Given the description of an element on the screen output the (x, y) to click on. 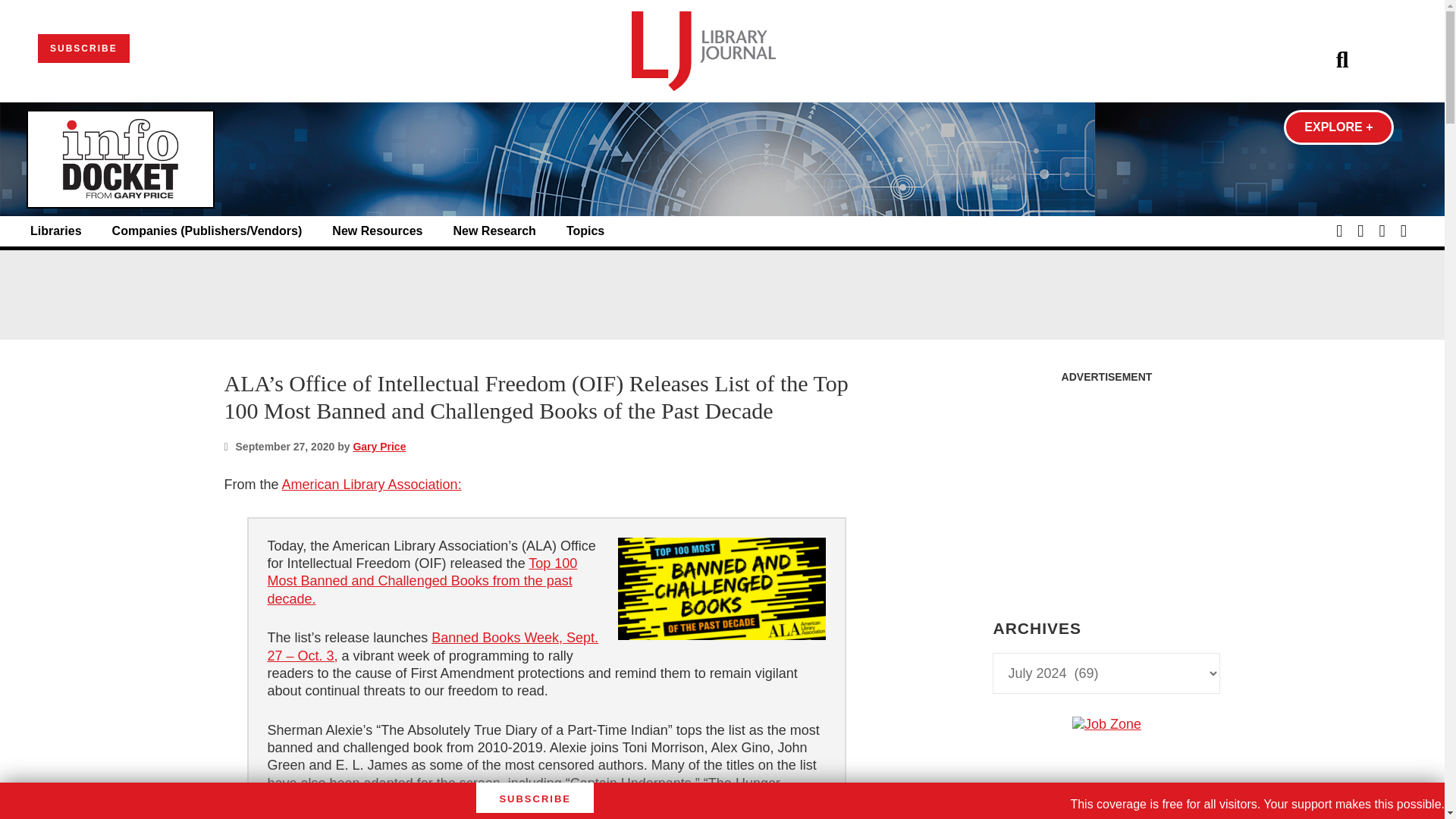
Libraries (55, 231)
SUBSCRIBE (83, 48)
3rd party ad content (1106, 485)
3rd party ad content (1106, 816)
3rd party ad content (721, 294)
New Resources (376, 231)
